Given the description of an element on the screen output the (x, y) to click on. 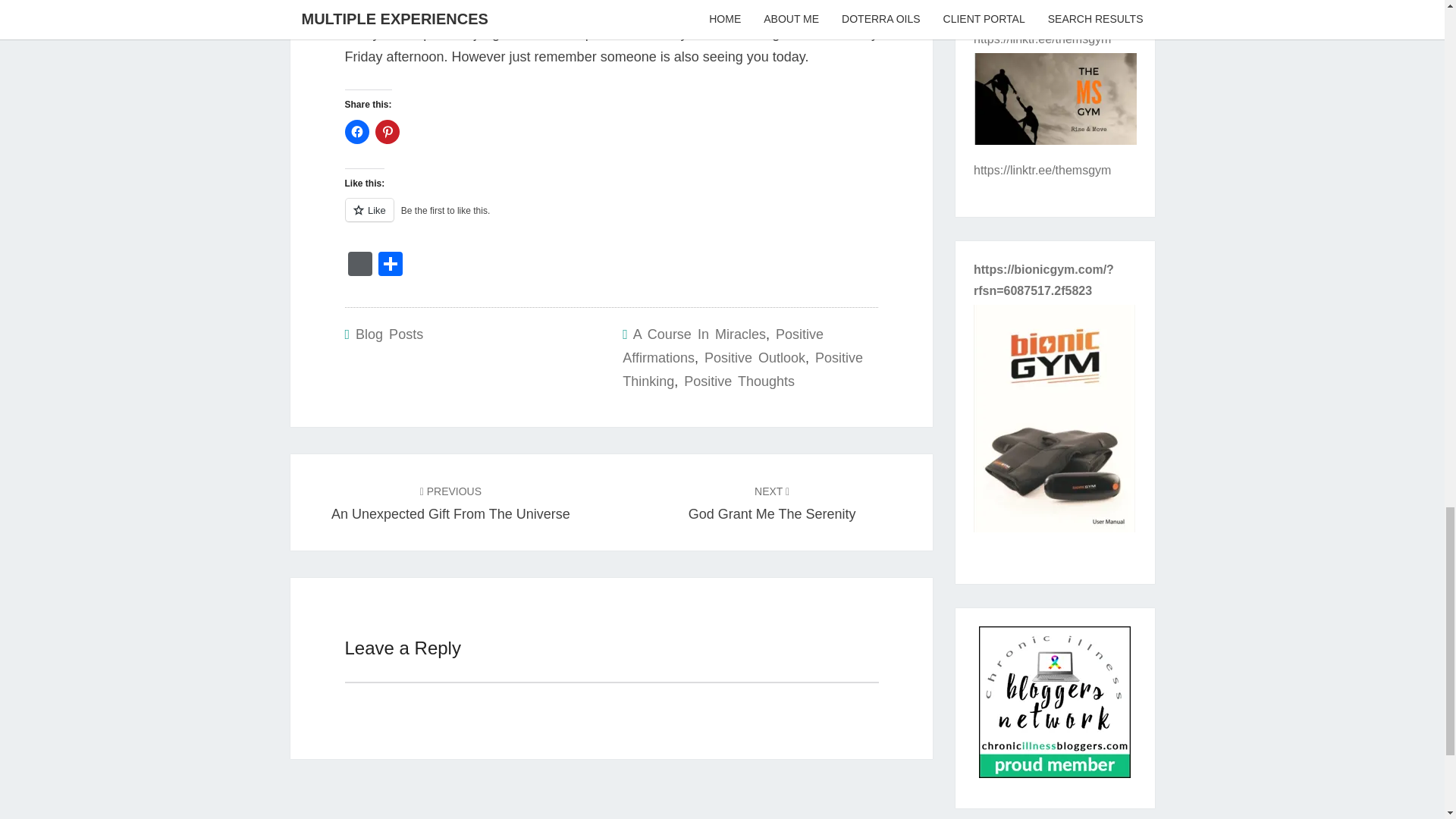
Click to share on Pinterest (772, 502)
Blog Posts (386, 131)
A Course In Miracles (389, 334)
WordPress (699, 334)
Positive Affirmations (358, 265)
WordPress (723, 345)
Click to share on Facebook (450, 502)
Positive Thinking (358, 265)
Like or Reblog (355, 131)
Chronic Illness Bloggers (743, 369)
Positive Outlook (610, 218)
Positive Thoughts (1054, 707)
Comment Form (754, 357)
